Given the description of an element on the screen output the (x, y) to click on. 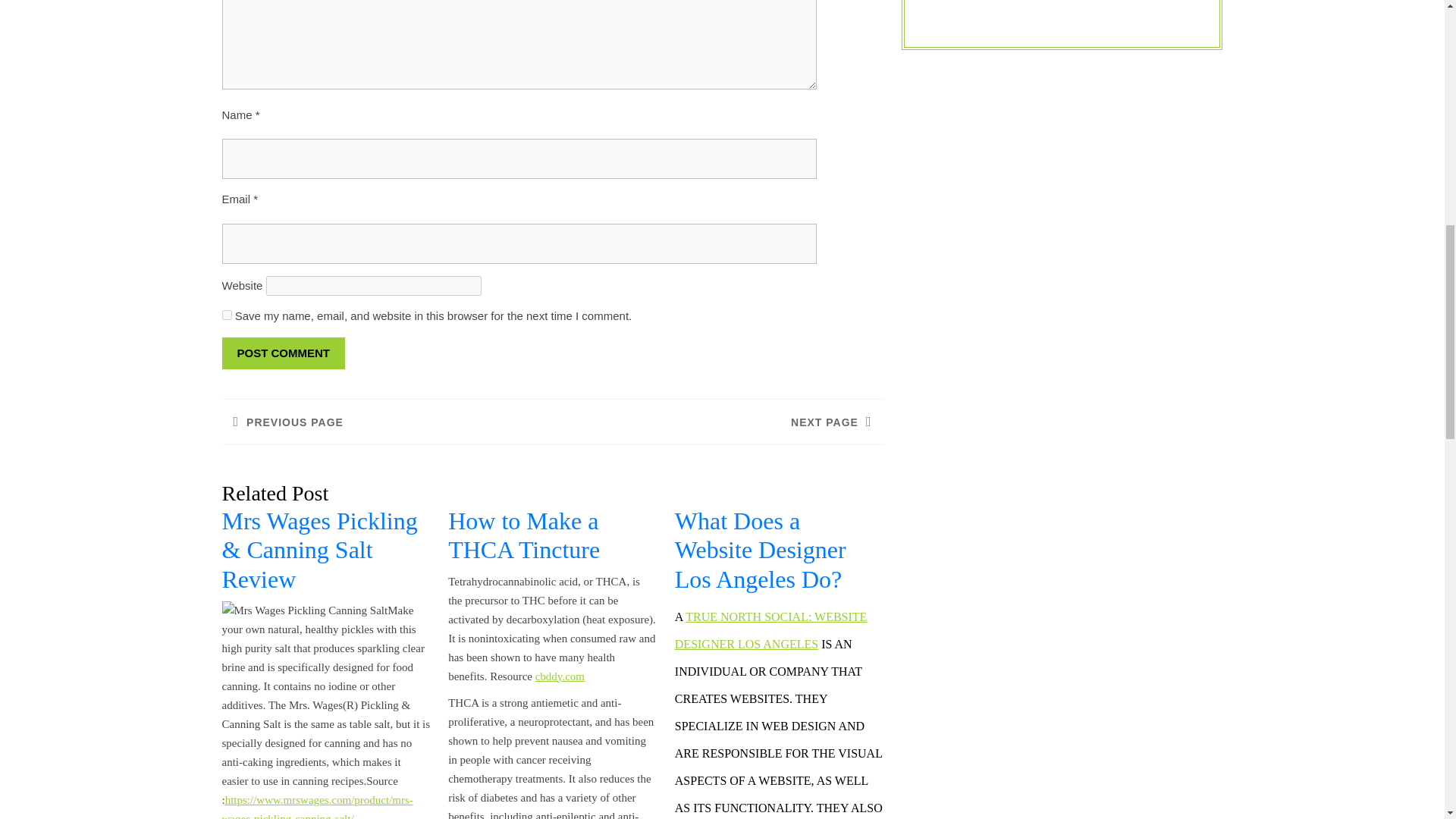
yes (226, 315)
TRUE NORTH SOCIAL: WEBSITE DESIGNER LOS ANGELES (386, 420)
cbddy.com (716, 420)
Post Comment (771, 630)
Post Comment (560, 676)
